Given the description of an element on the screen output the (x, y) to click on. 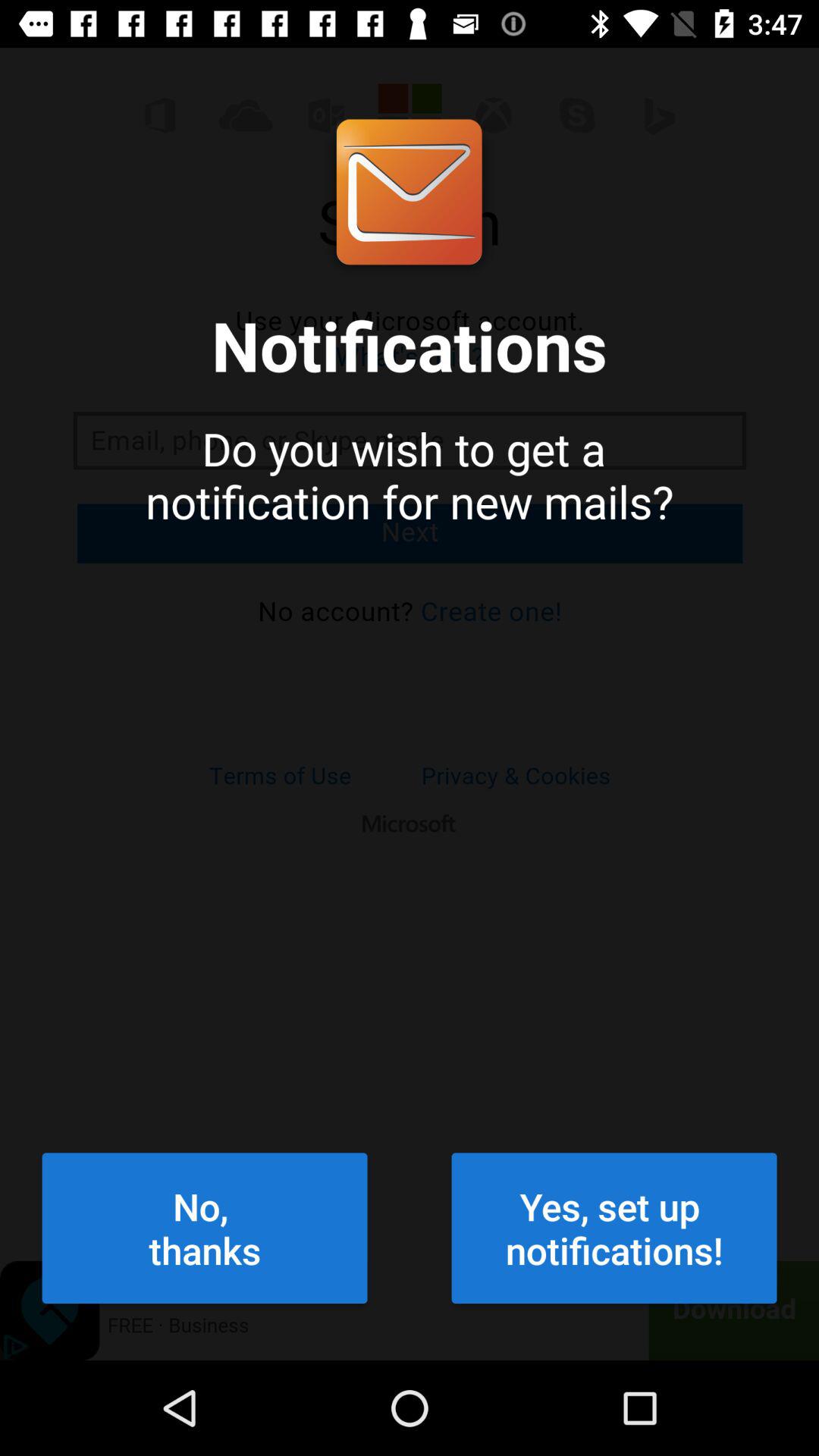
turn on yes set up at the bottom right corner (613, 1227)
